Given the description of an element on the screen output the (x, y) to click on. 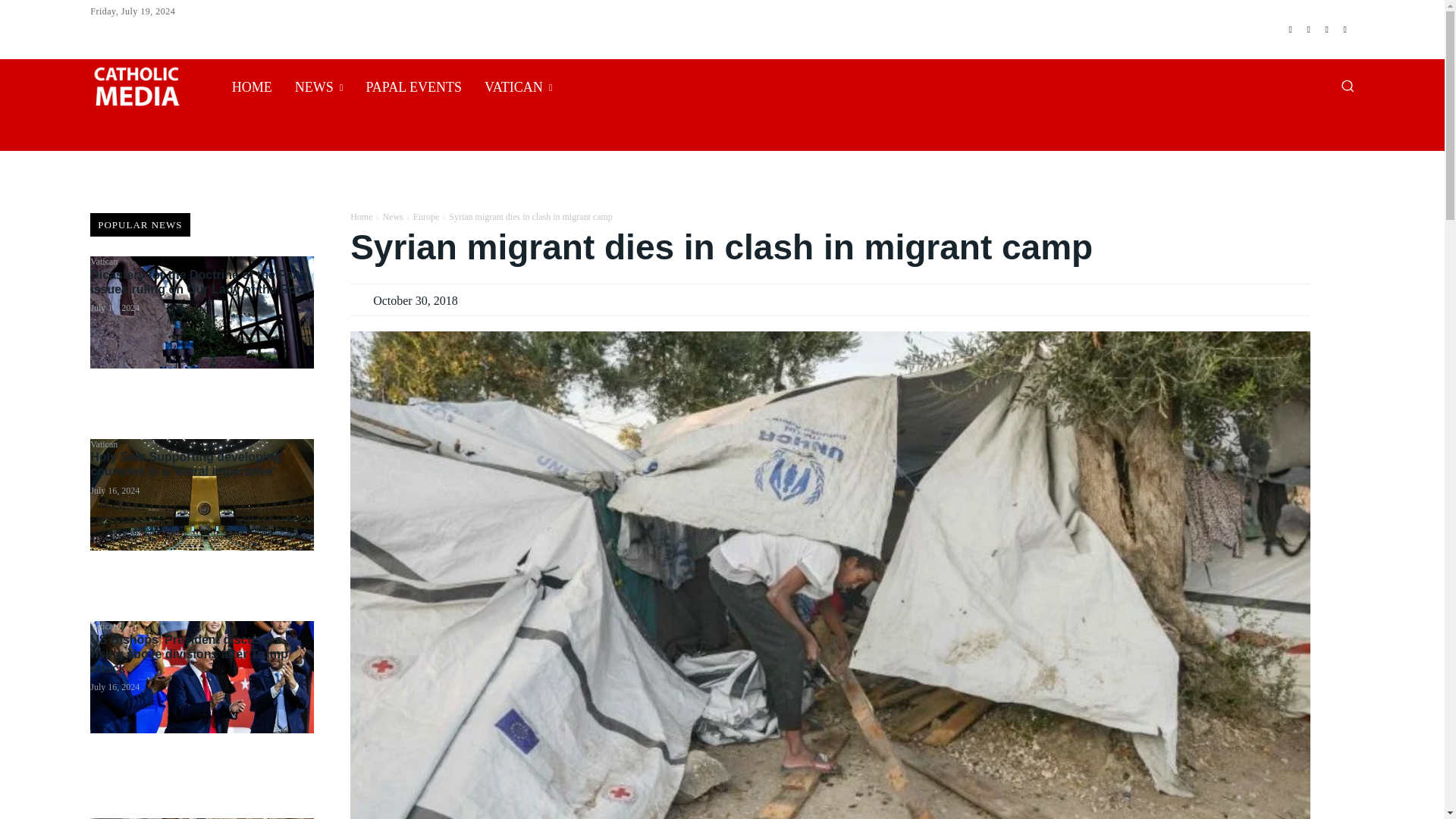
Facebook (1290, 29)
HOME (252, 86)
NEWS (319, 86)
Instagram (1308, 29)
VATICAN (518, 86)
PAPAL EVENTS (413, 86)
Twitter (1326, 29)
Youtube (1345, 29)
